Given the description of an element on the screen output the (x, y) to click on. 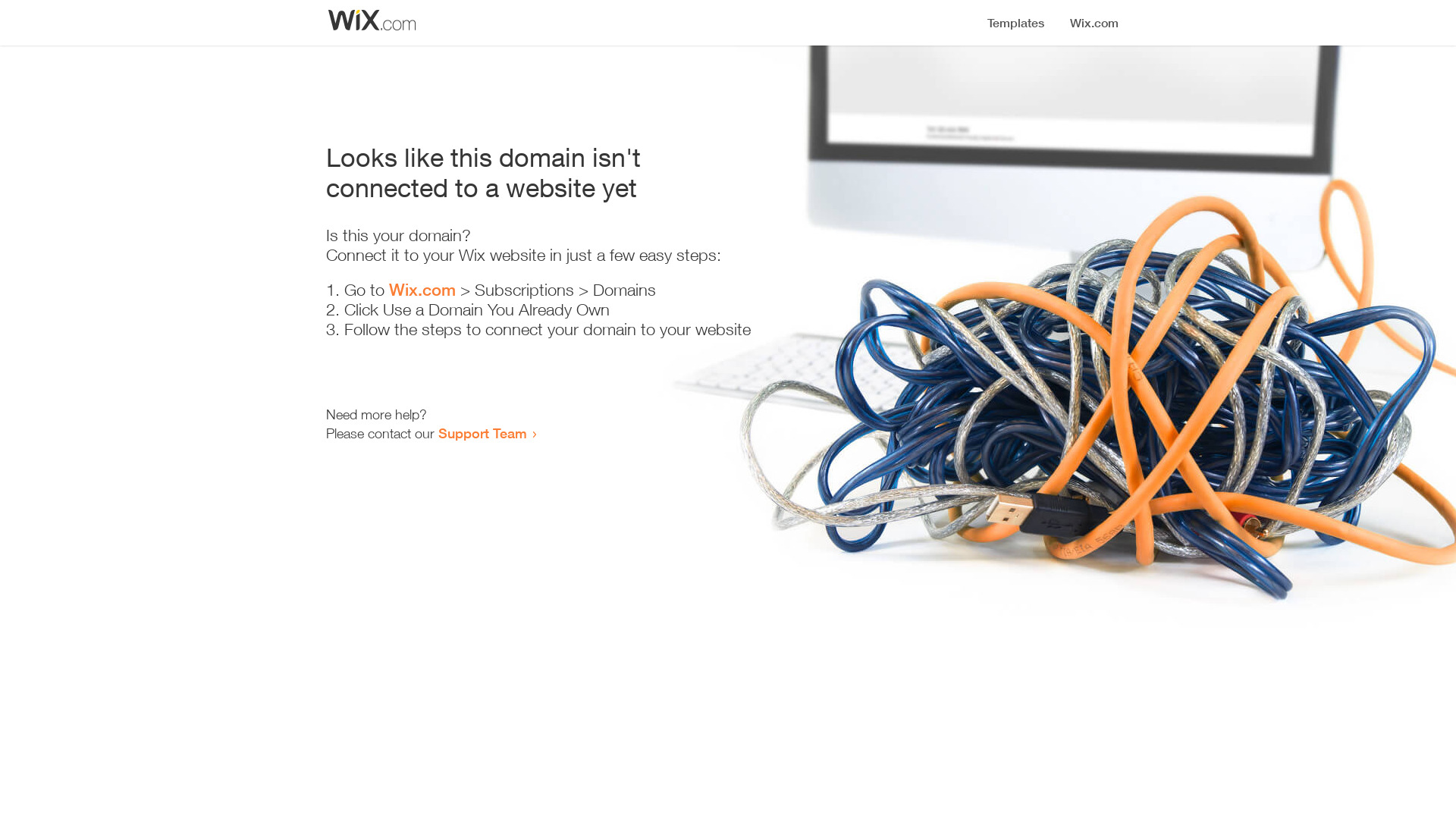
Wix.com Element type: text (422, 289)
Support Team Element type: text (482, 432)
